Given the description of an element on the screen output the (x, y) to click on. 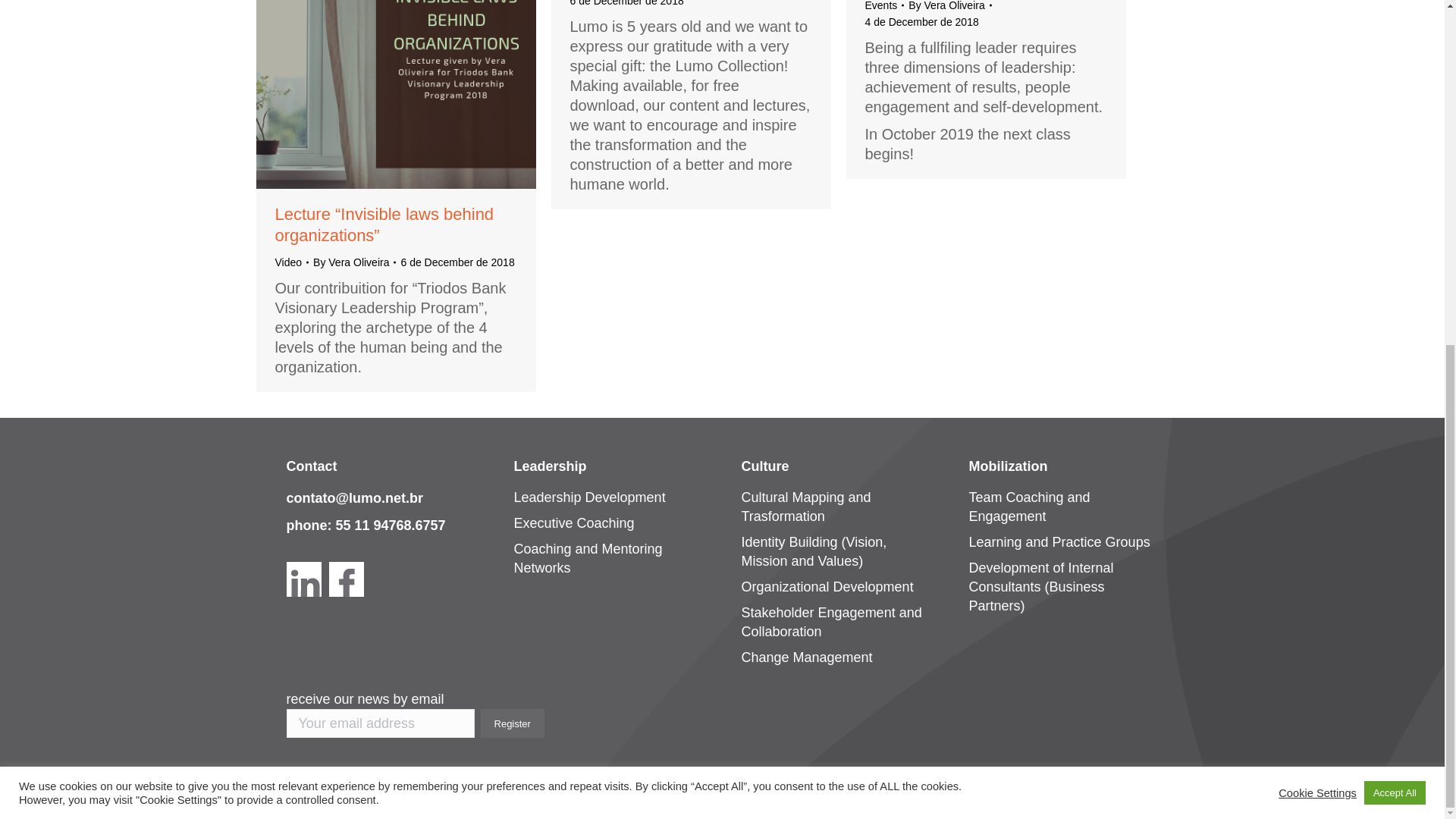
15:22 (921, 21)
16:18 (627, 4)
View all posts by Vera Oliveira (354, 262)
Capa video (395, 94)
View all posts by Vera Oliveira (949, 6)
Register (512, 723)
